Given the description of an element on the screen output the (x, y) to click on. 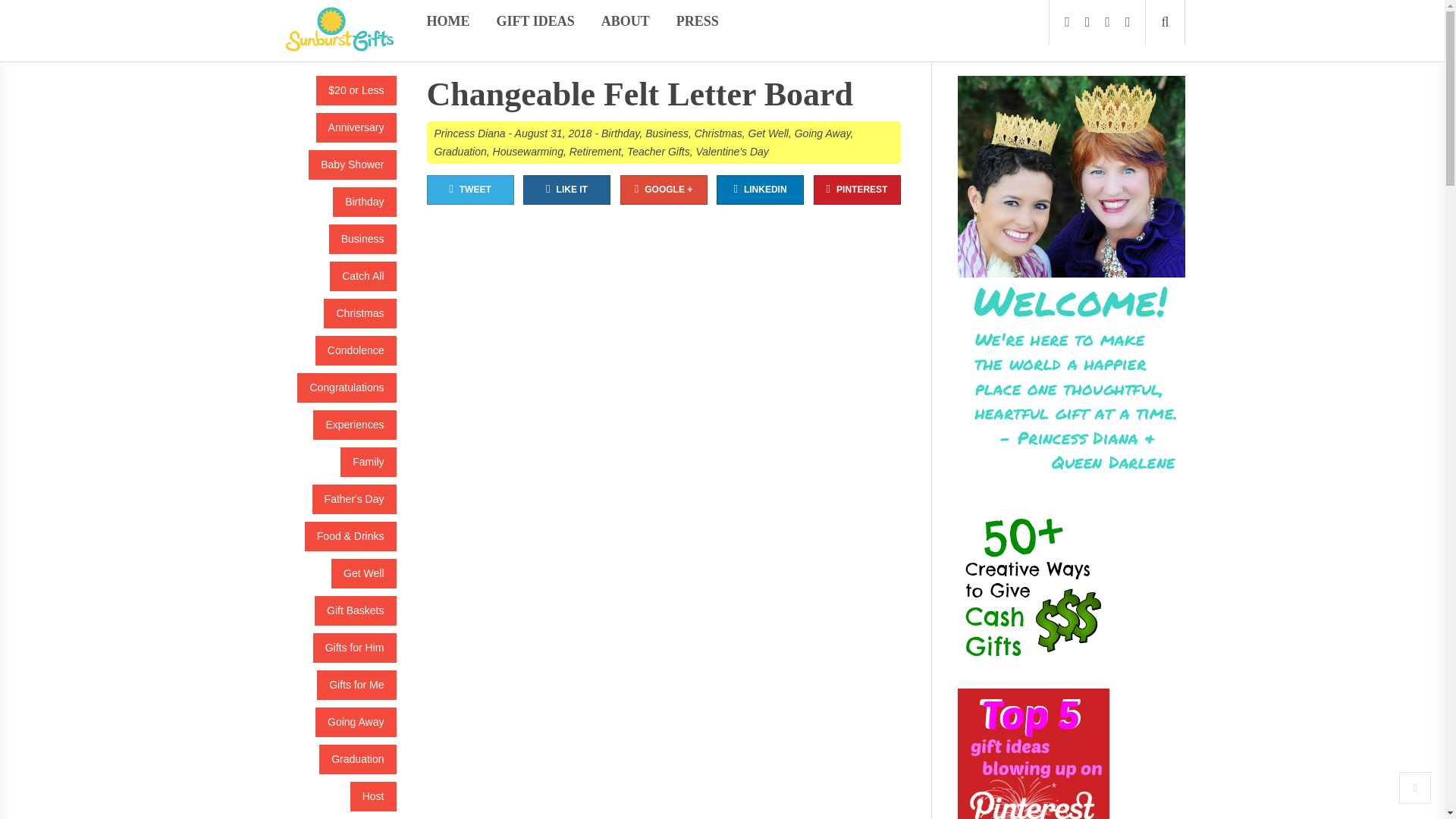
Gift Baskets (355, 610)
Posts by Princess Diana (469, 133)
Gifts for Me (356, 685)
Anniversary (355, 127)
Experiences (354, 424)
Graduation (357, 758)
HOME (447, 20)
Catch All (363, 276)
ABOUT (625, 20)
Christmas (359, 313)
